Given the description of an element on the screen output the (x, y) to click on. 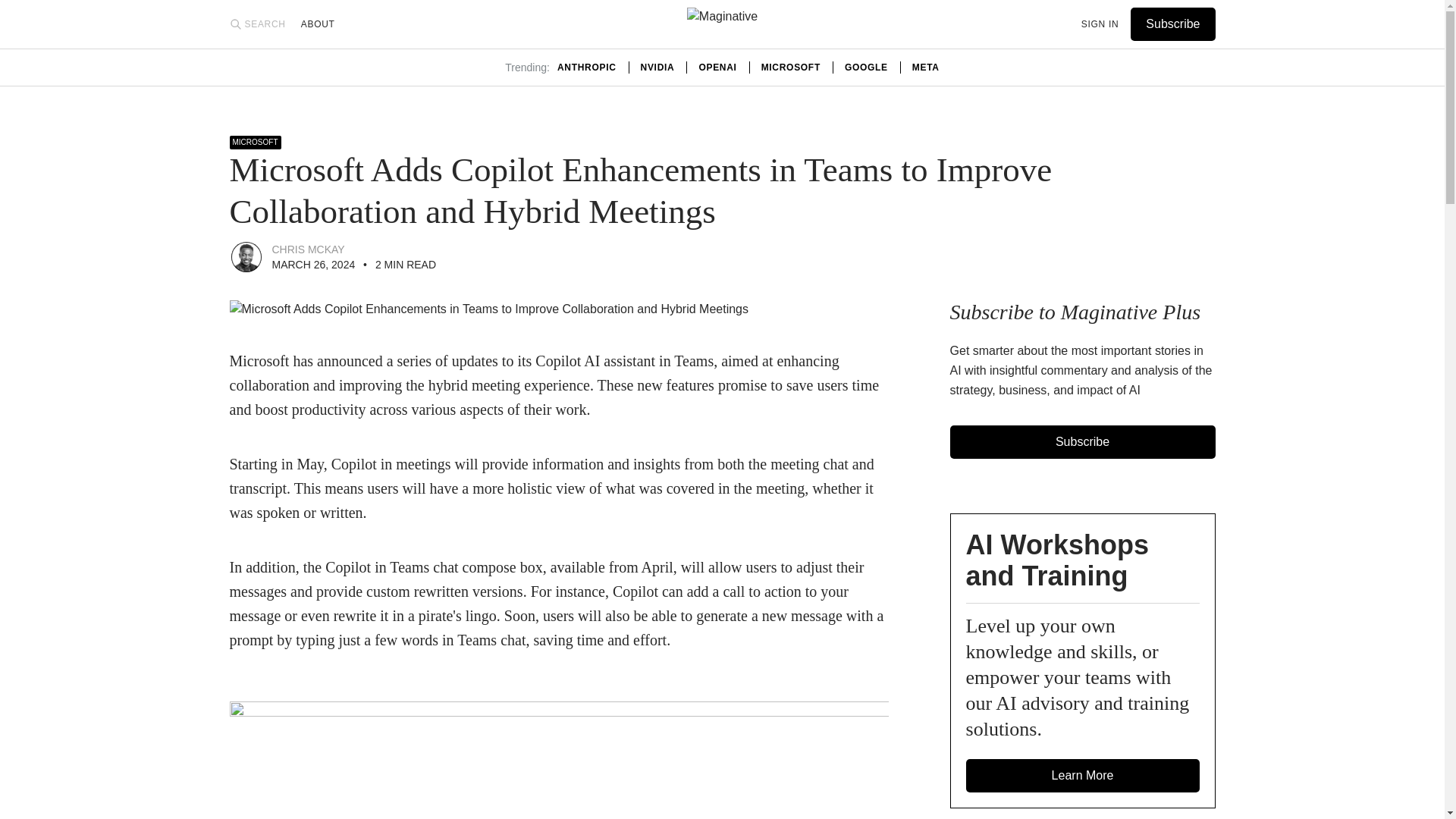
OPENAI (717, 67)
ABOUT (317, 23)
MICROSOFT (791, 67)
ANTHROPIC (586, 67)
NVIDIA (657, 67)
META (925, 67)
MICROSOFT (254, 142)
SEARCH (256, 23)
GOOGLE (866, 67)
SIGN IN (1100, 24)
